Given the description of an element on the screen output the (x, y) to click on. 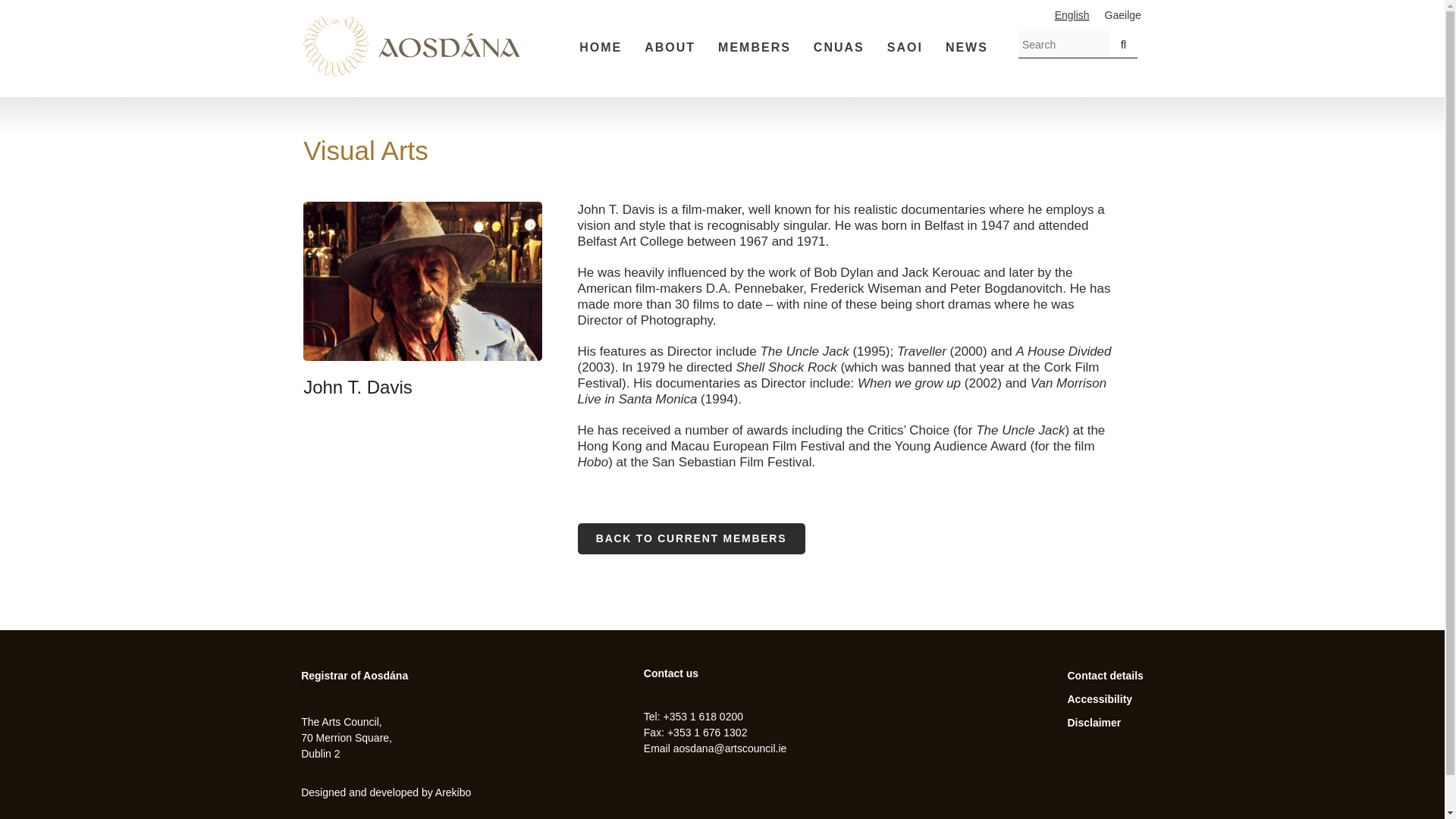
SAOI (904, 47)
Disclaimer (1094, 722)
Accessibility (1099, 698)
ABOUT (670, 47)
Contact details (1104, 675)
NEWS (966, 47)
CNUAS (839, 47)
MEMBERS (753, 47)
Gaeilge (1123, 15)
HOME (600, 47)
BACK TO CURRENT MEMBERS (691, 538)
English (1071, 15)
